Given the description of an element on the screen output the (x, y) to click on. 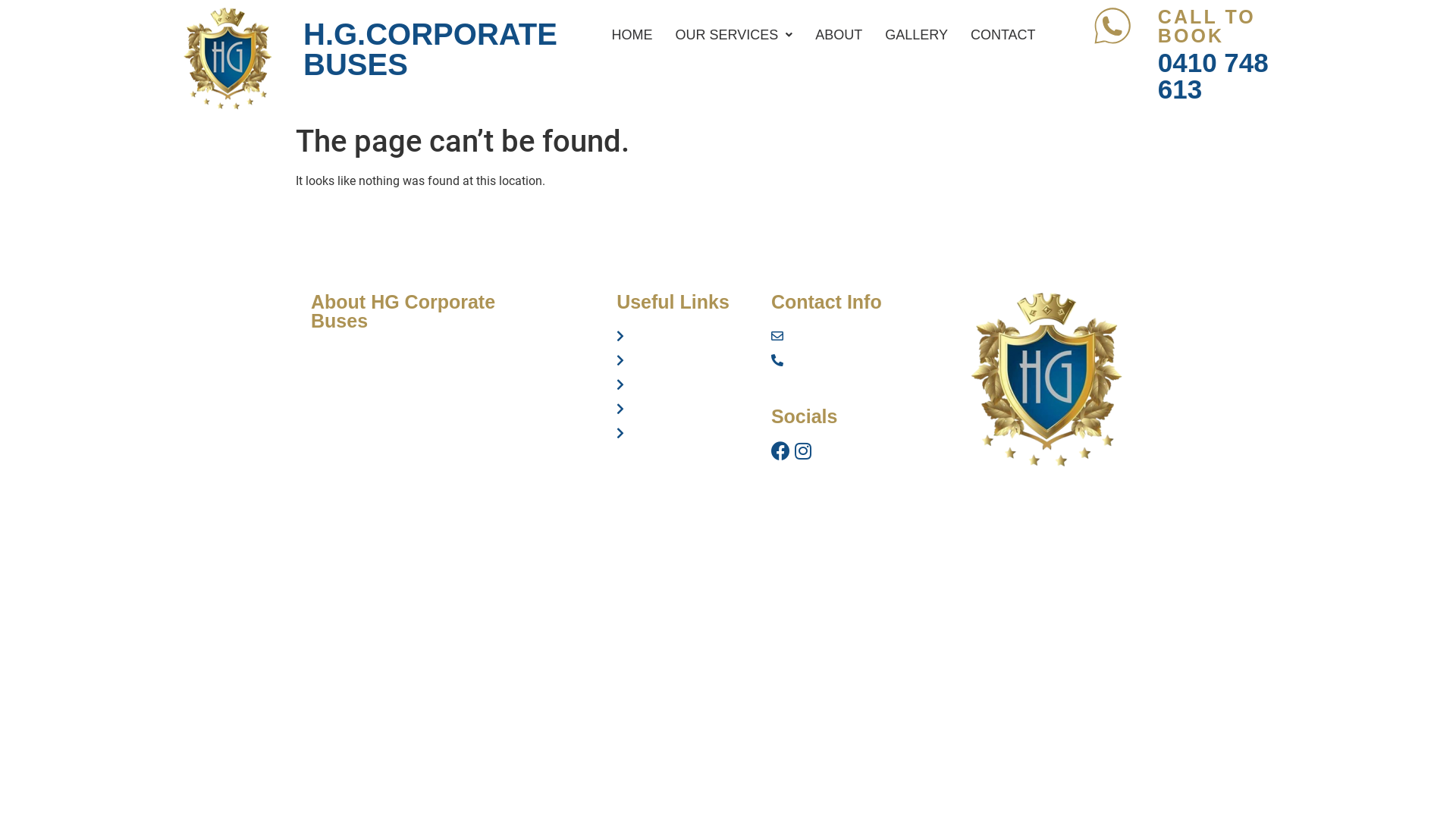
Home Element type: text (686, 335)
Contact Us Element type: text (686, 432)
Logo_big Element type: hover (1046, 379)
ABOUT Element type: text (838, 34)
0410 748 613 Element type: text (851, 360)
GALLERY Element type: text (916, 34)
CALL TO BOOK Element type: text (1206, 26)
HOME Element type: text (631, 34)
OUR SERVICES Element type: text (733, 34)
info@hglimos.com Element type: text (851, 335)
CONTACT Element type: text (1003, 34)
About US Element type: text (686, 384)
0410 748 613 Element type: text (1212, 75)
Our Services Element type: text (686, 360)
Gallery Element type: text (686, 408)
